Given the description of an element on the screen output the (x, y) to click on. 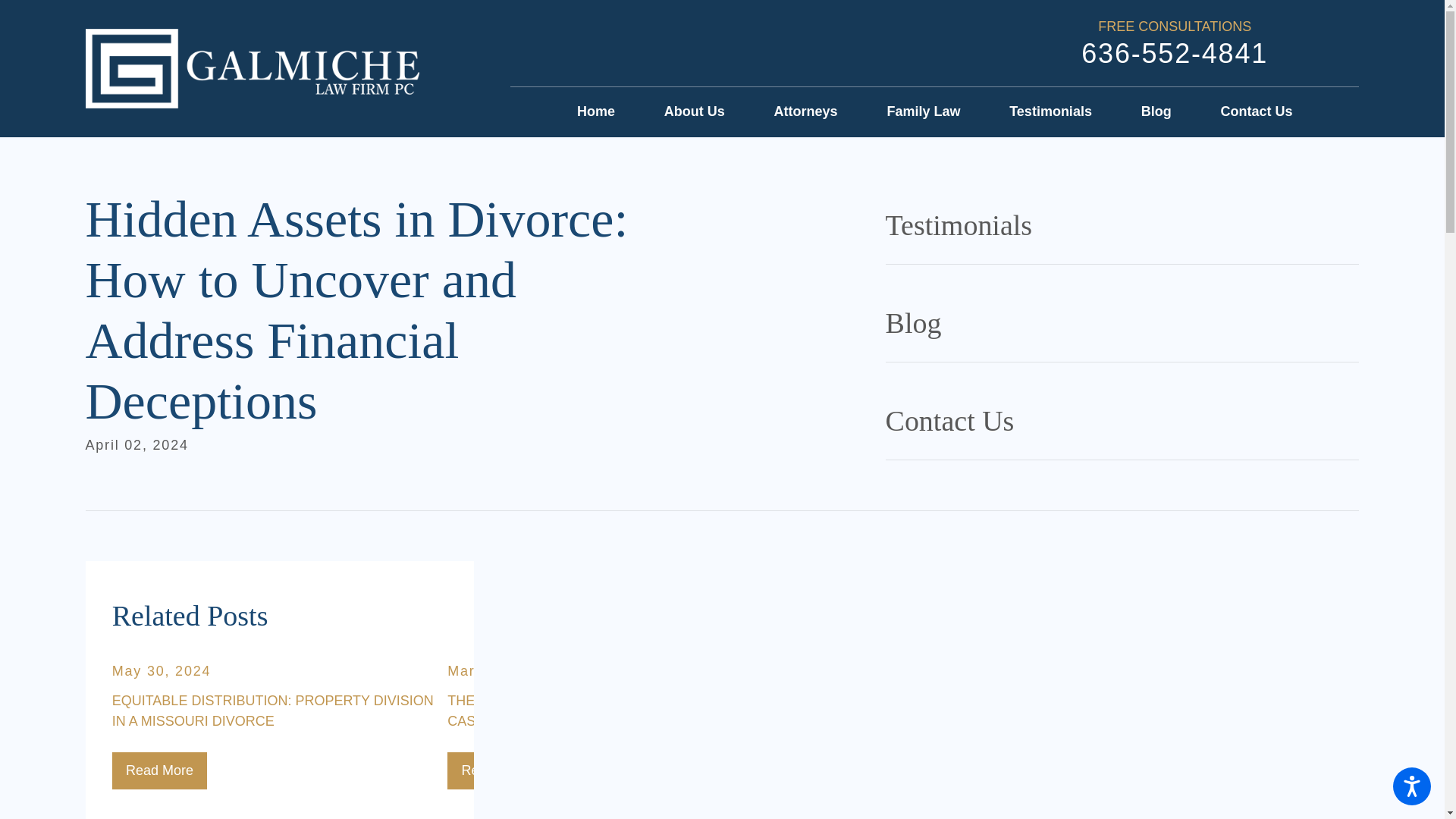
Testimonials (1050, 111)
Attorneys (806, 111)
636-552-4841 (1174, 52)
About Us (694, 111)
Galmiche Law Firm, P.C. (251, 67)
Open the accessibility options menu (1412, 786)
Family Law (922, 111)
